Given the description of an element on the screen output the (x, y) to click on. 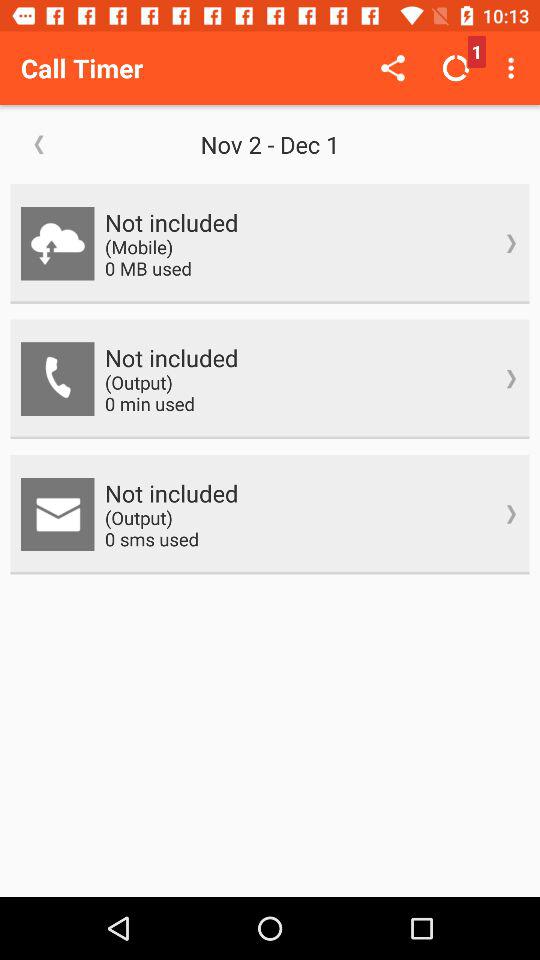
launch item to the right of the call timer item (392, 67)
